Given the description of an element on the screen output the (x, y) to click on. 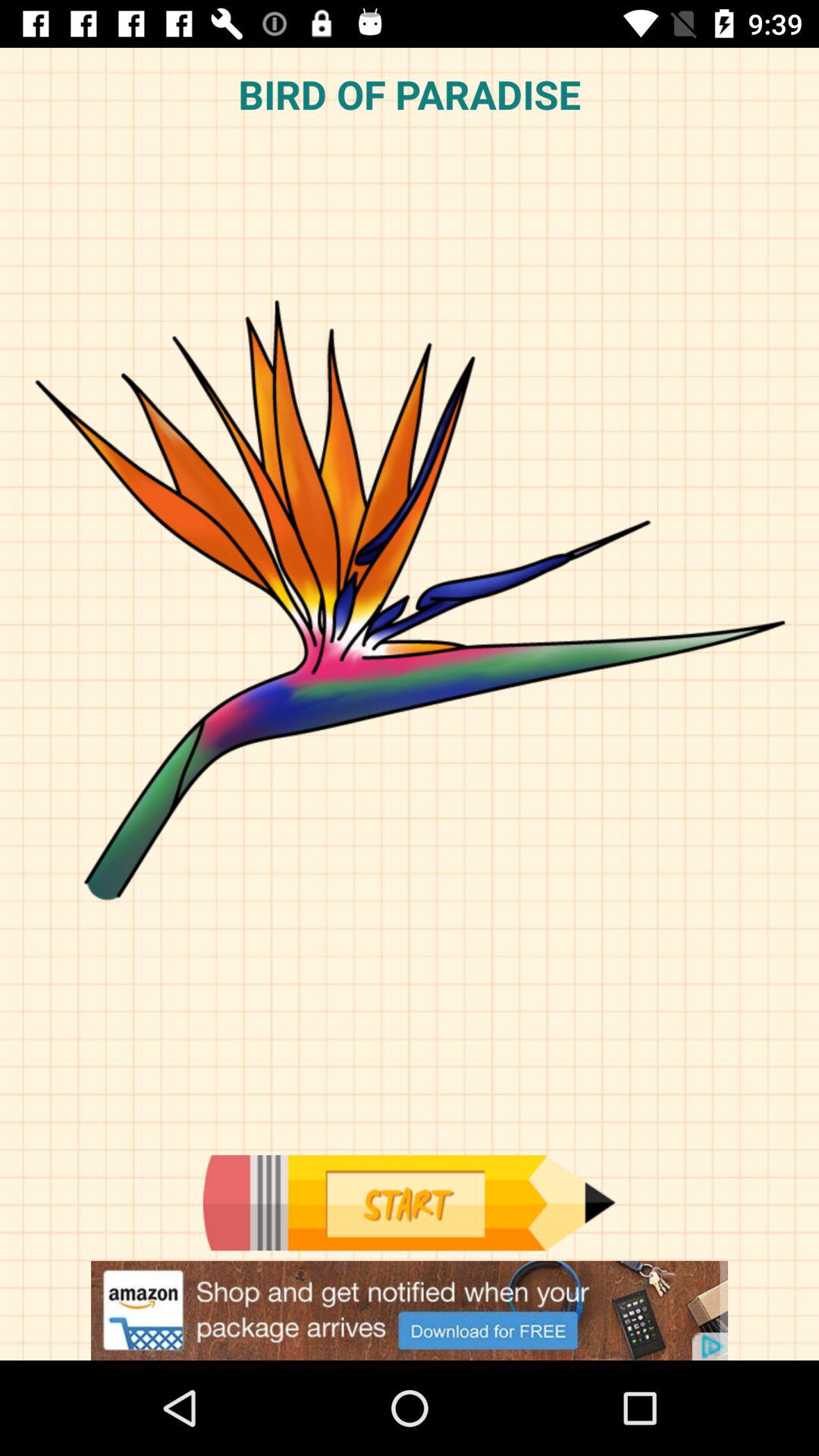
start drawing (409, 1202)
